Given the description of an element on the screen output the (x, y) to click on. 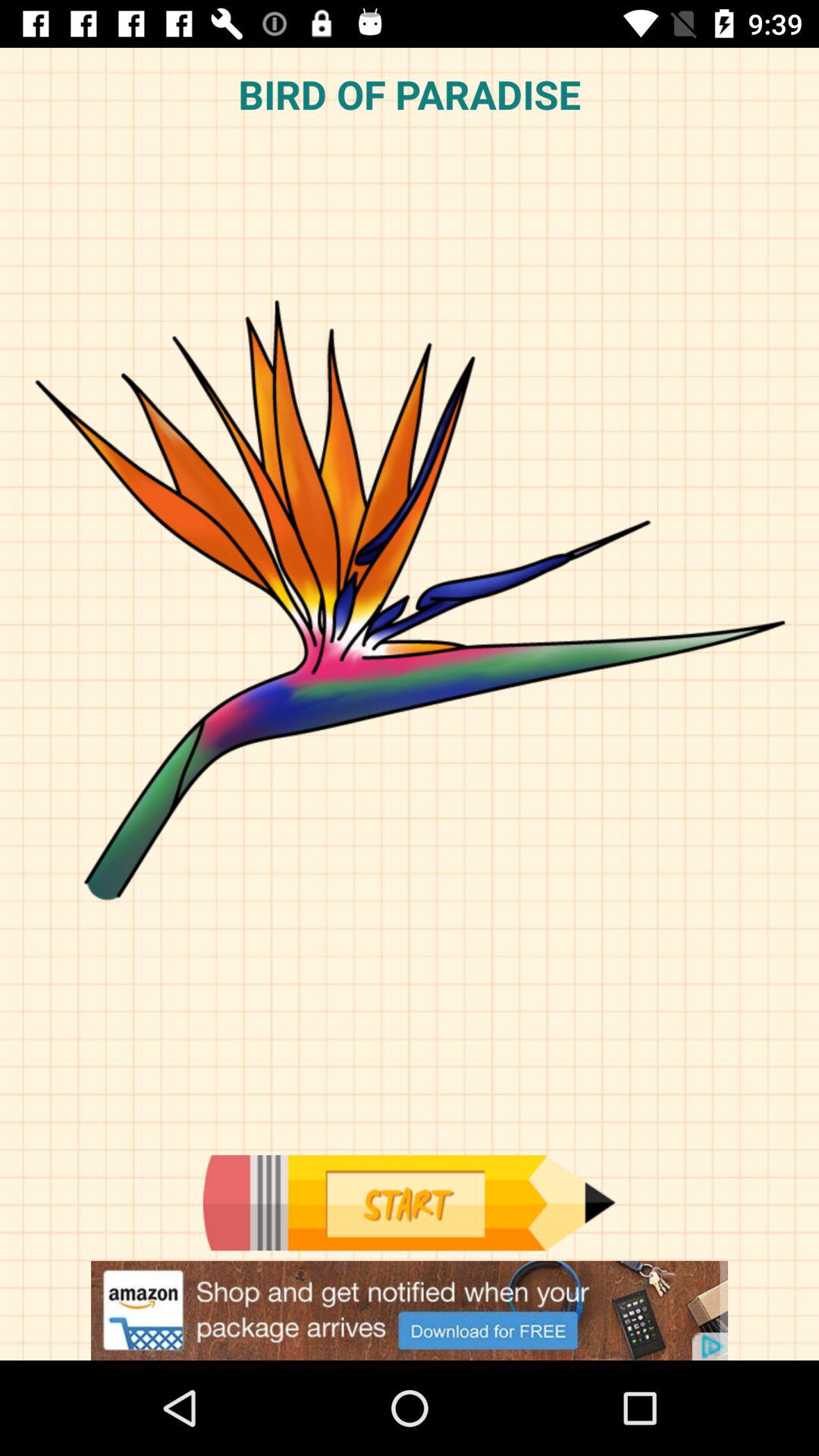
start drawing (409, 1202)
